Given the description of an element on the screen output the (x, y) to click on. 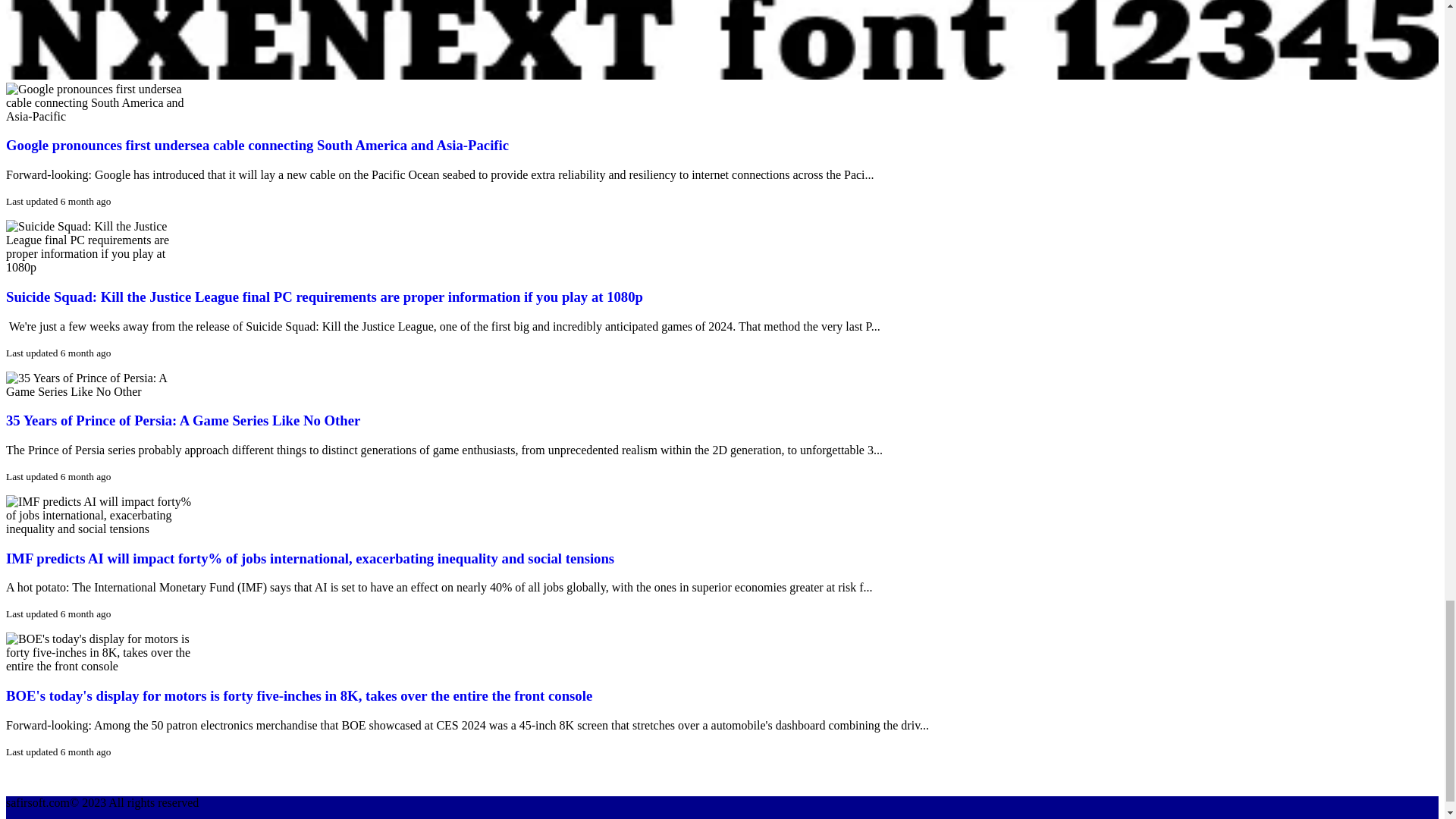
35 Years of Prince of Persia: A Game Series Like No Other (182, 420)
